Given the description of an element on the screen output the (x, y) to click on. 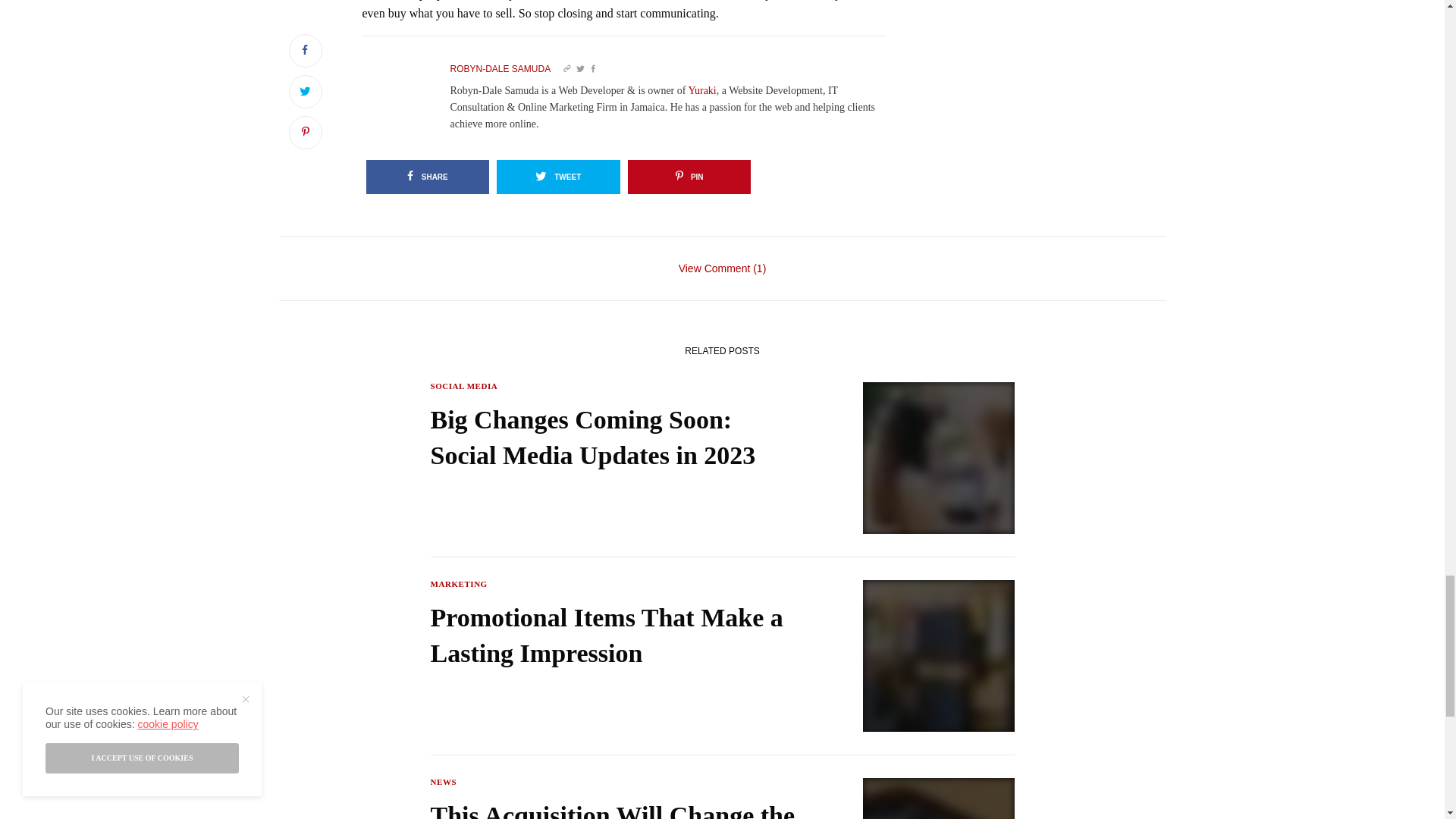
Big Changes Coming Soon: Social Media Updates in 2023 (617, 438)
TWEET (558, 176)
Yuraki (701, 90)
SHARE (427, 176)
ROBYN-DALE SAMUDA (500, 68)
Website design in Jamaica (701, 90)
Promotional Items That Make a Lasting Impression (617, 635)
